Given the description of an element on the screen output the (x, y) to click on. 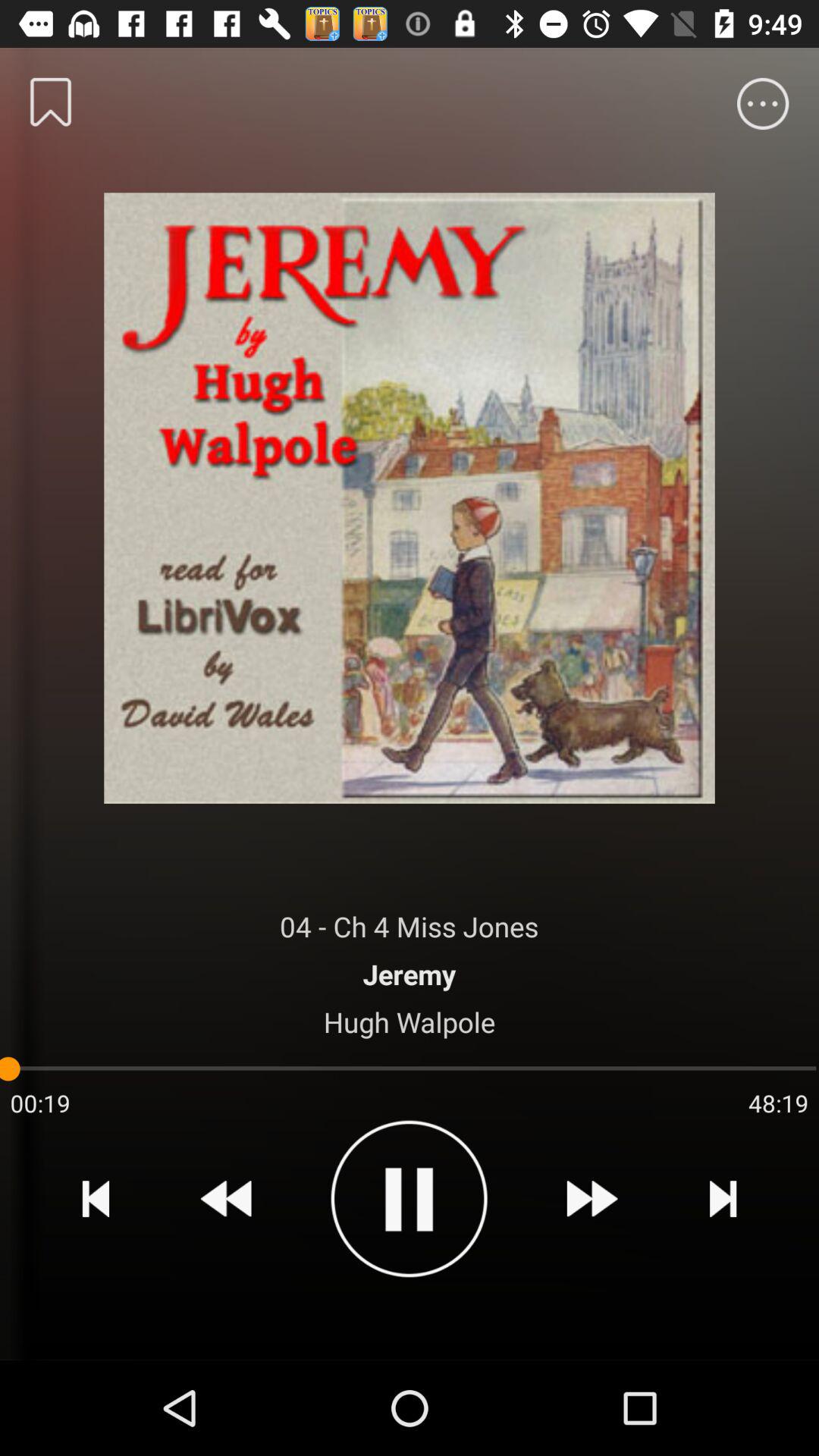
swipe until hugh walpole icon (409, 1021)
